Given the description of an element on the screen output the (x, y) to click on. 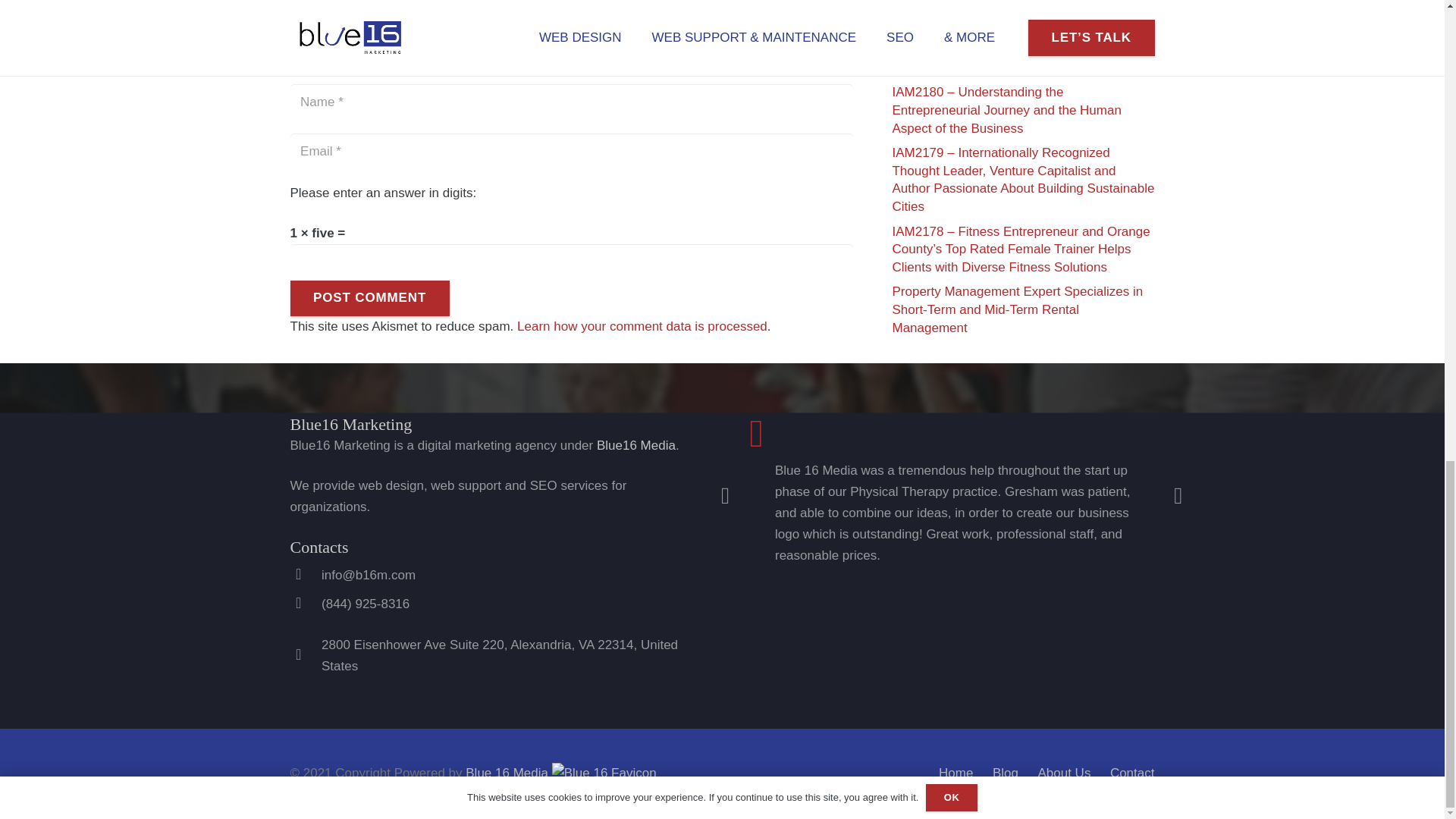
POST COMMENT (368, 298)
Learn how your comment data is processed (641, 326)
